Given the description of an element on the screen output the (x, y) to click on. 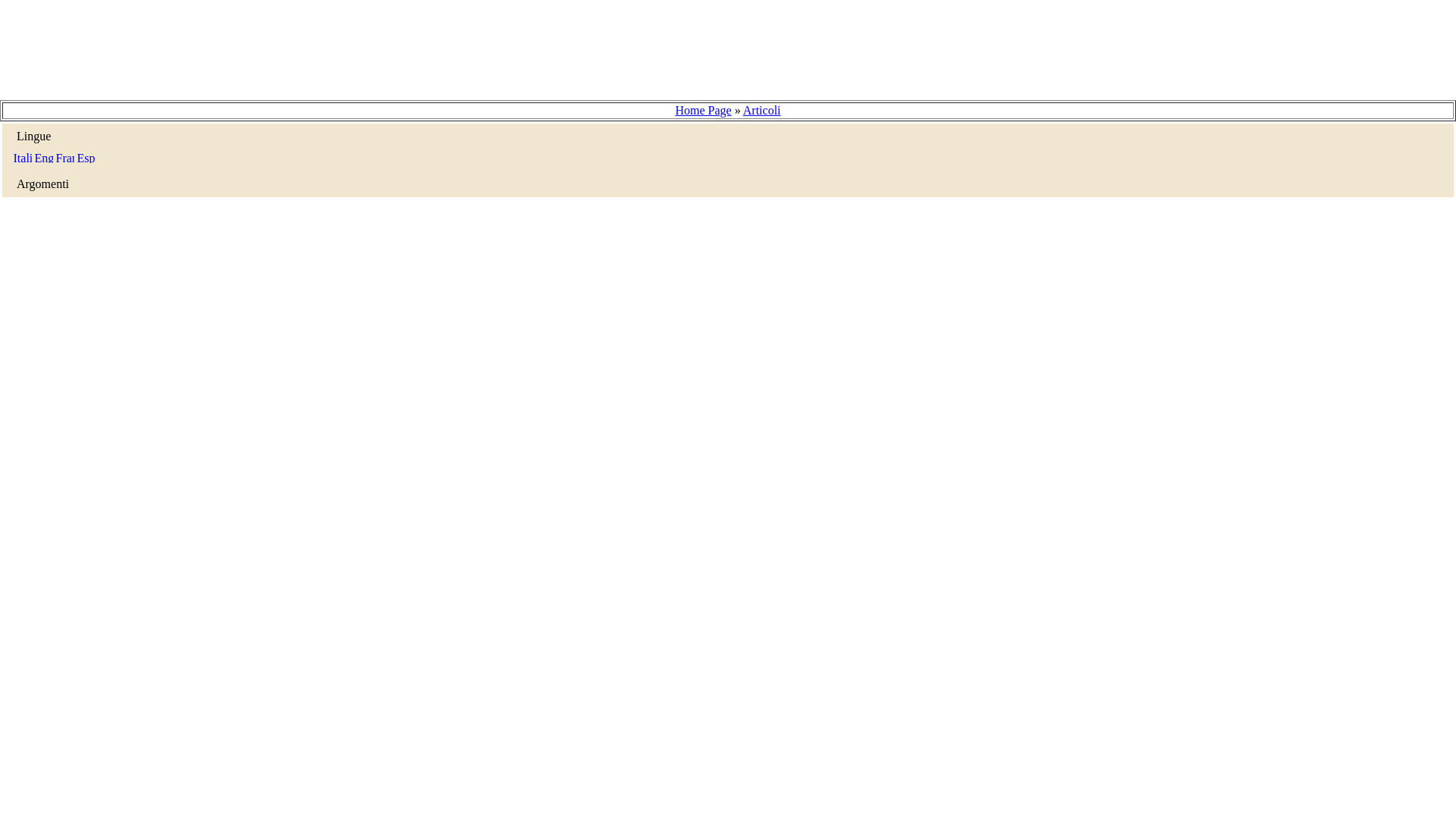
Home Page (702, 110)
 Francais  (65, 156)
 English  (43, 156)
 Espanol  (86, 156)
Articoli (761, 110)
 Italiano  (22, 156)
